Given the description of an element on the screen output the (x, y) to click on. 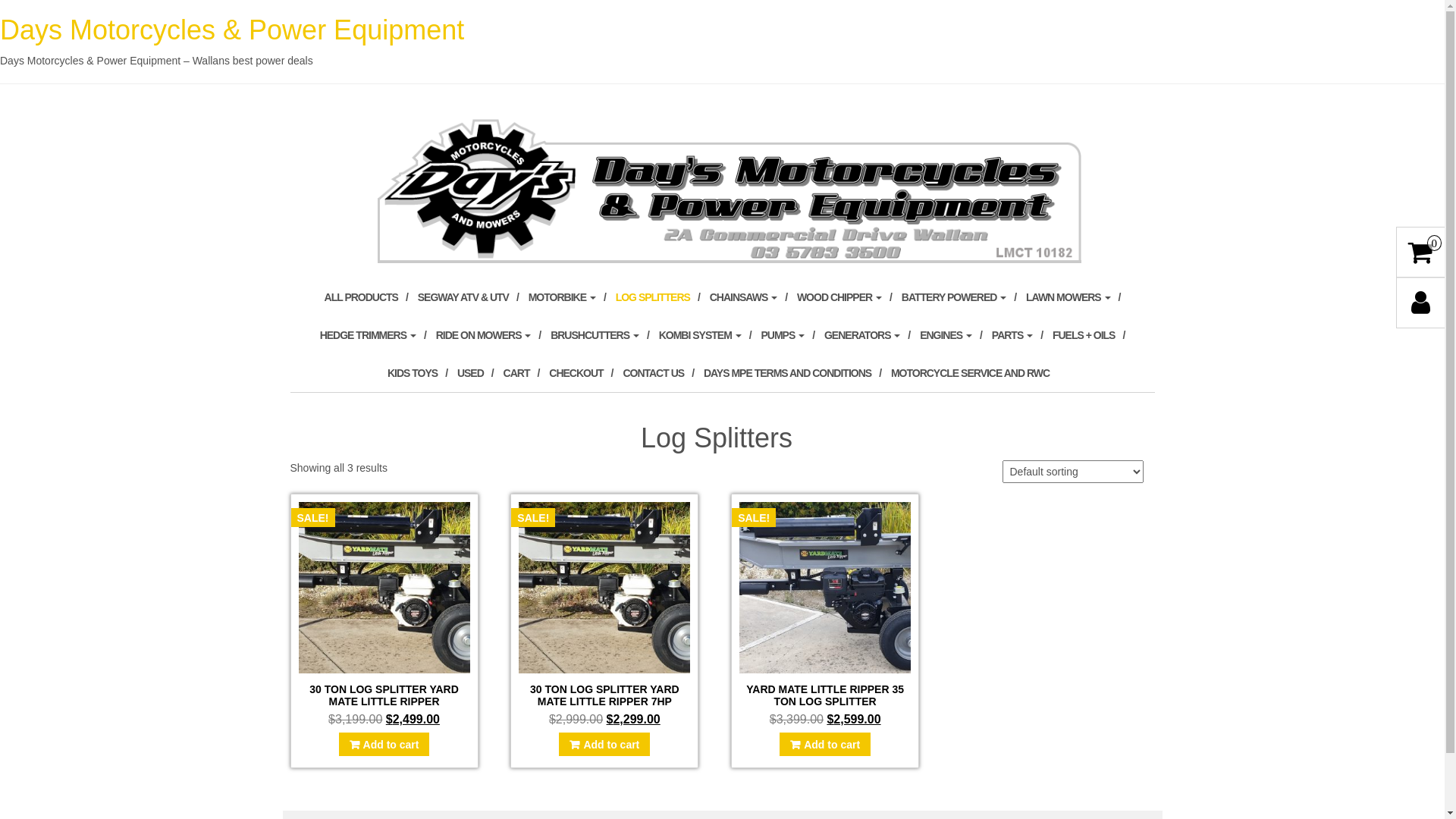
CART Element type: text (521, 373)
PARTS Element type: text (1017, 335)
BATTERY POWERED Element type: text (958, 297)
CONTACT US Element type: text (657, 373)
HEDGE TRIMMERS Element type: text (372, 335)
KOMBI SYSTEM Element type: text (705, 335)
Add to cart Element type: text (603, 744)
0 Element type: text (1420, 252)
KIDS TOYS Element type: text (417, 373)
USED Element type: text (475, 373)
SEGWAY ATV & UTV Element type: text (468, 297)
LAWN MOWERS Element type: text (1072, 297)
CHECKOUT Element type: text (580, 373)
MOTORCYCLE SERVICE AND RWC Element type: text (973, 373)
Add to cart Element type: text (824, 744)
GENERATORS Element type: text (866, 335)
Add to cart Element type: text (383, 744)
ENGINES Element type: text (950, 335)
Days Motorcycles & Power Equipment Element type: text (232, 29)
BRUSHCUTTERS Element type: text (599, 335)
DAYS MPE TERMS AND CONDITIONS Element type: text (791, 373)
CHAINSAWS Element type: text (748, 297)
WOOD CHIPPER Element type: text (844, 297)
LOG SPLITTERS Element type: text (657, 297)
PUMPS Element type: text (787, 335)
RIDE ON MOWERS Element type: text (488, 335)
Days Motorcycles & Power Equipment Element type: hover (721, 188)
MOTORBIKE Element type: text (566, 297)
FUELS + OILS Element type: text (1088, 335)
ALL PRODUCTS Element type: text (365, 297)
